Given the description of an element on the screen output the (x, y) to click on. 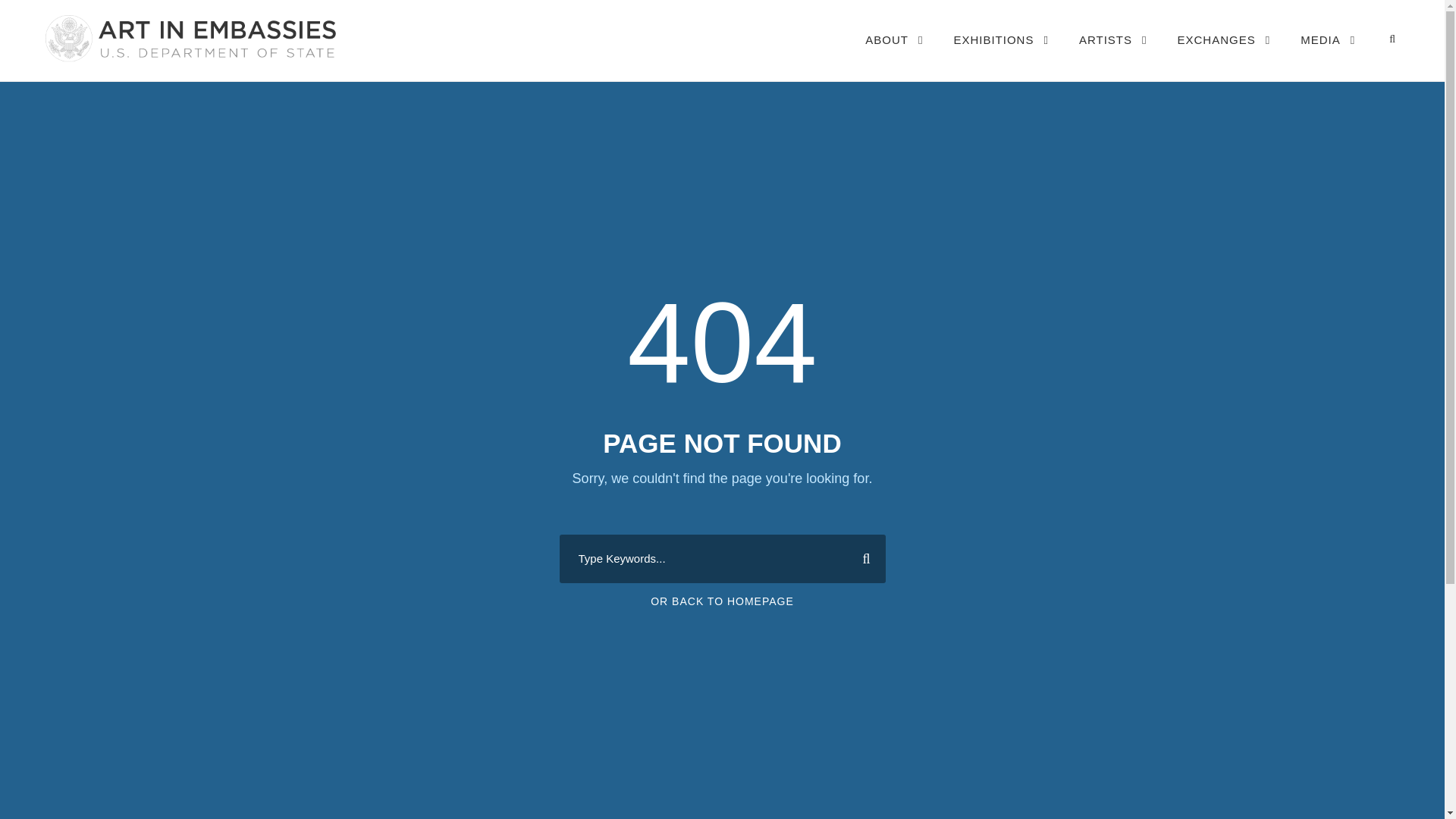
ABOUT (893, 55)
EXHIBITIONS (1000, 55)
MEDIA (1327, 55)
EXCHANGES (1224, 55)
OR BACK TO HOMEPAGE (721, 601)
aie logo3 (188, 38)
ARTISTS (1112, 55)
Search (860, 558)
